Given the description of an element on the screen output the (x, y) to click on. 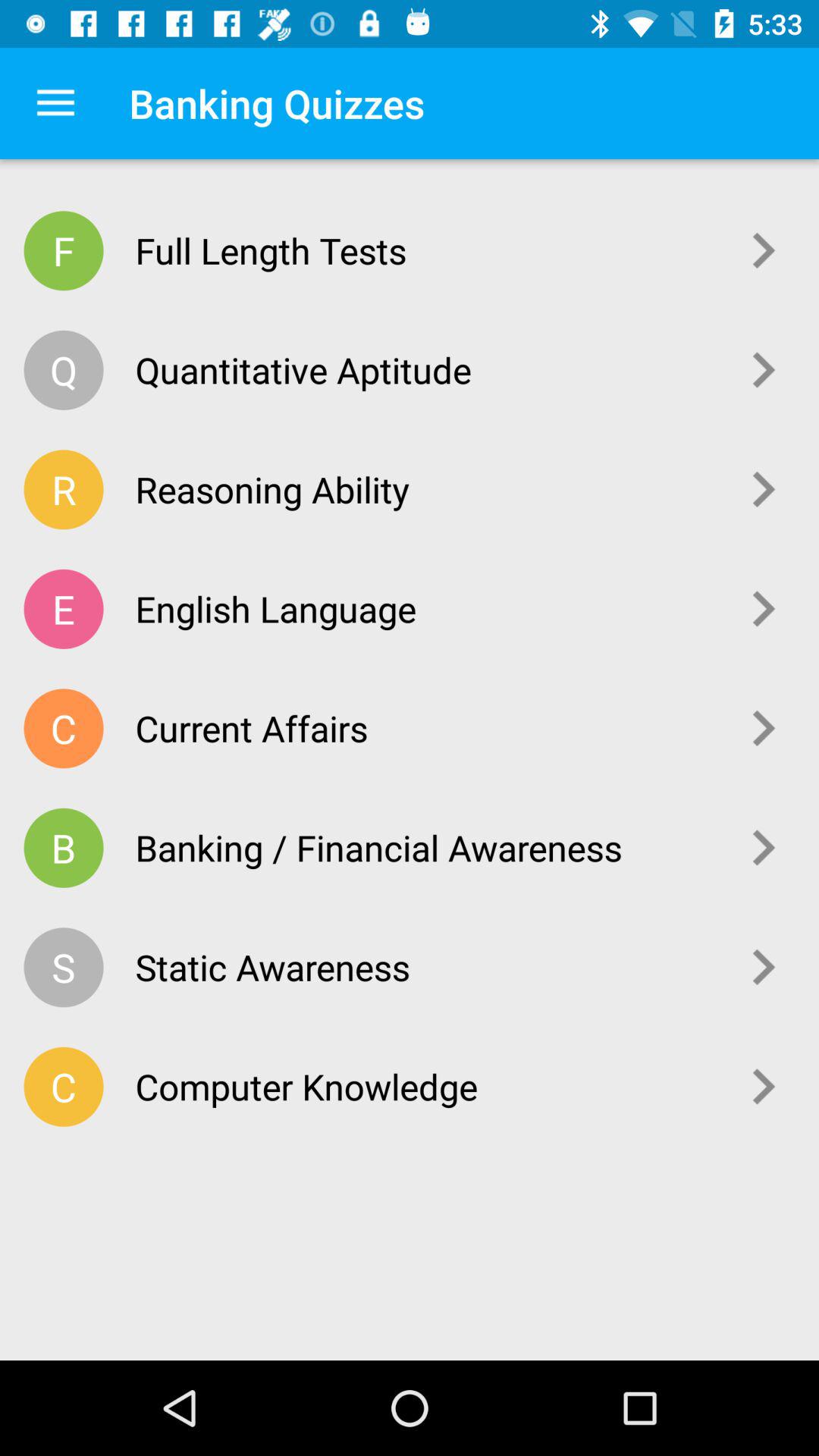
open the icon to the right of s item (425, 966)
